Given the description of an element on the screen output the (x, y) to click on. 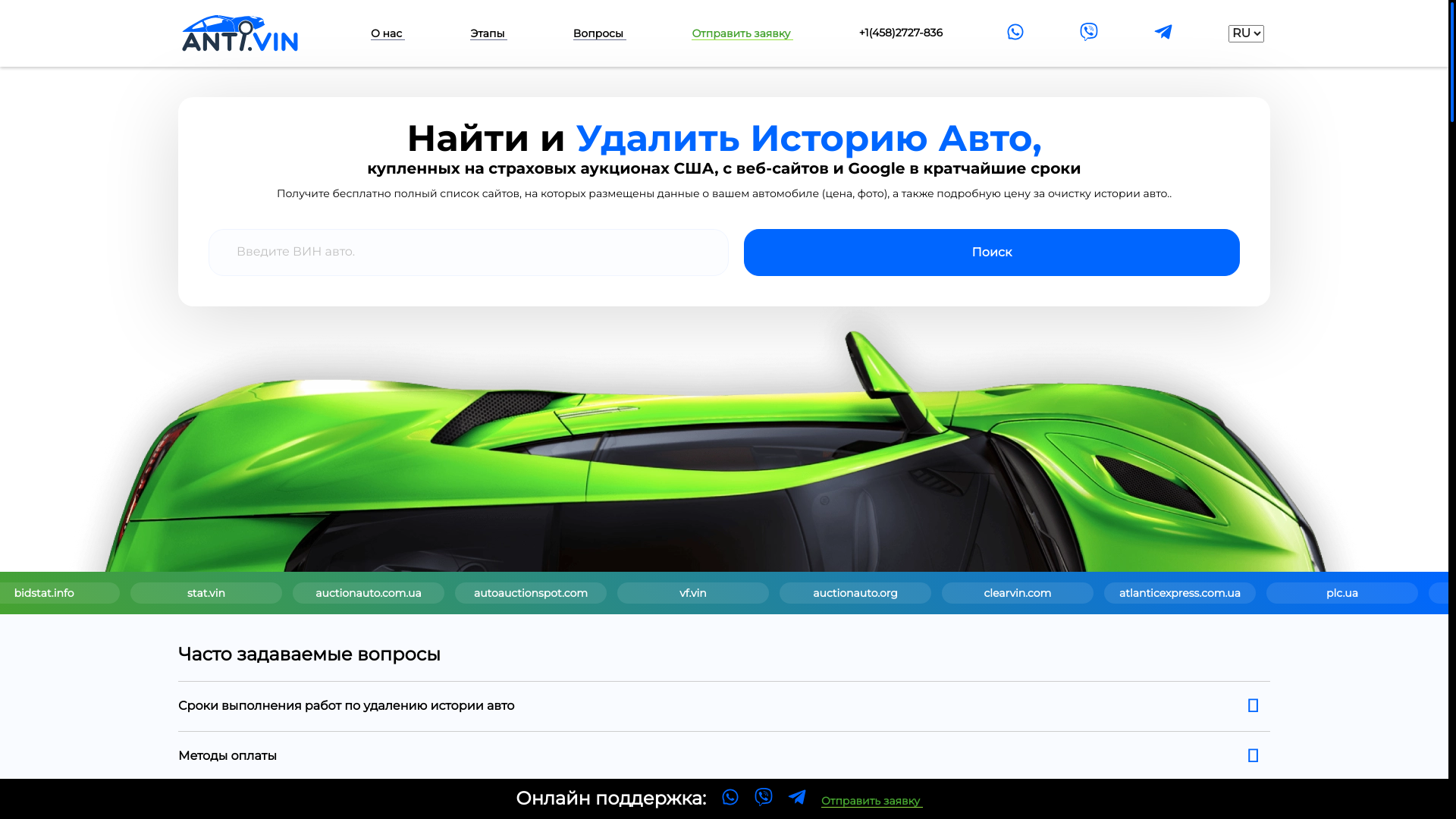
autoauctionspot.com Element type: text (997, 592)
epicvin.com Element type: text (358, 592)
+1(458)2727-836 Element type: text (900, 32)
stat.vin Element type: text (677, 592)
bidstat.info Element type: text (517, 592)
auctionauto.org Element type: text (1316, 592)
salvagebid.com Element type: text (197, 592)
vf.vin Element type: text (1158, 592)
auctionauto.com.ua Element type: text (838, 592)
